Given the description of an element on the screen output the (x, y) to click on. 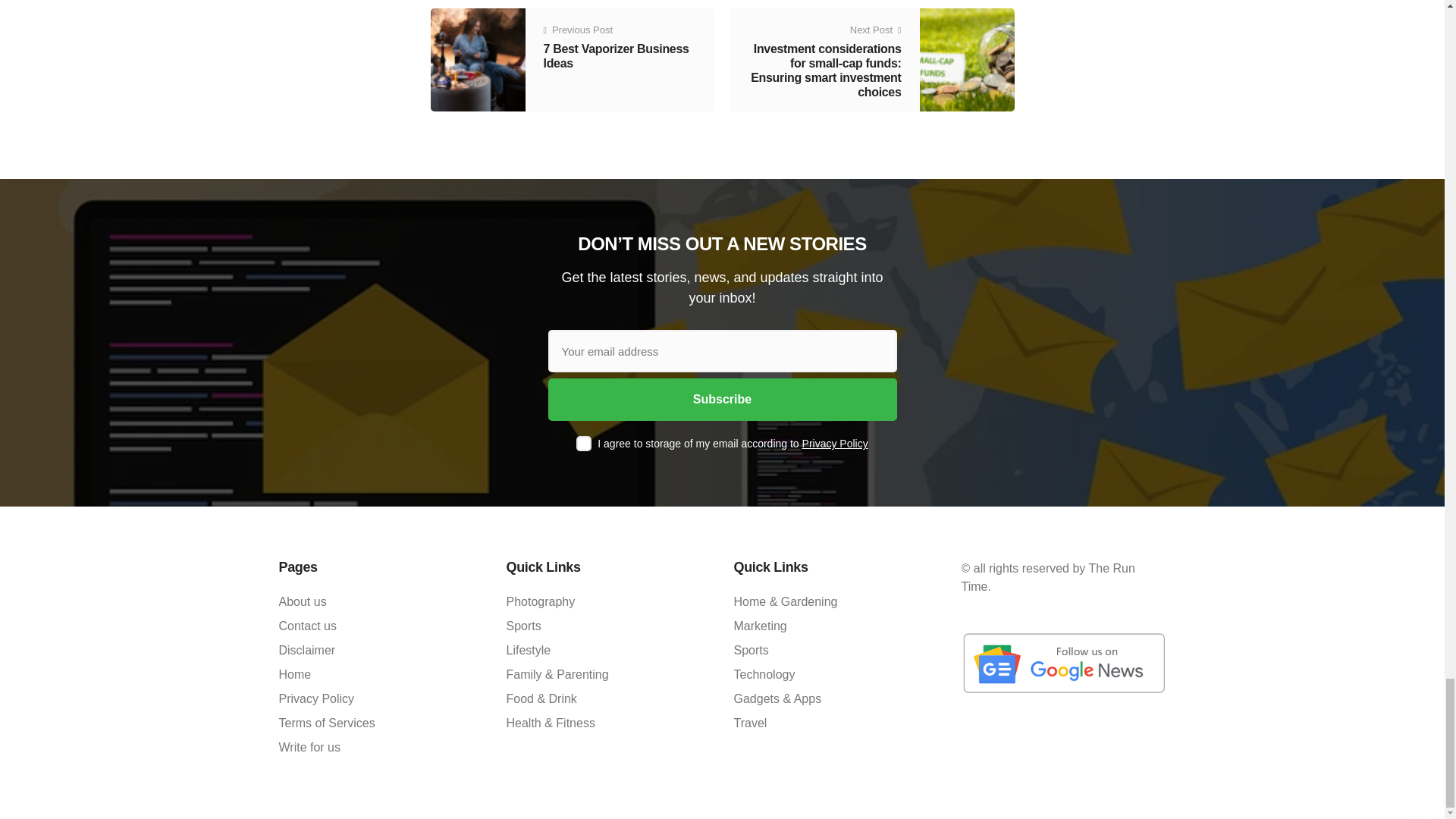
Subscribe (721, 399)
1 (583, 443)
